Given the description of an element on the screen output the (x, y) to click on. 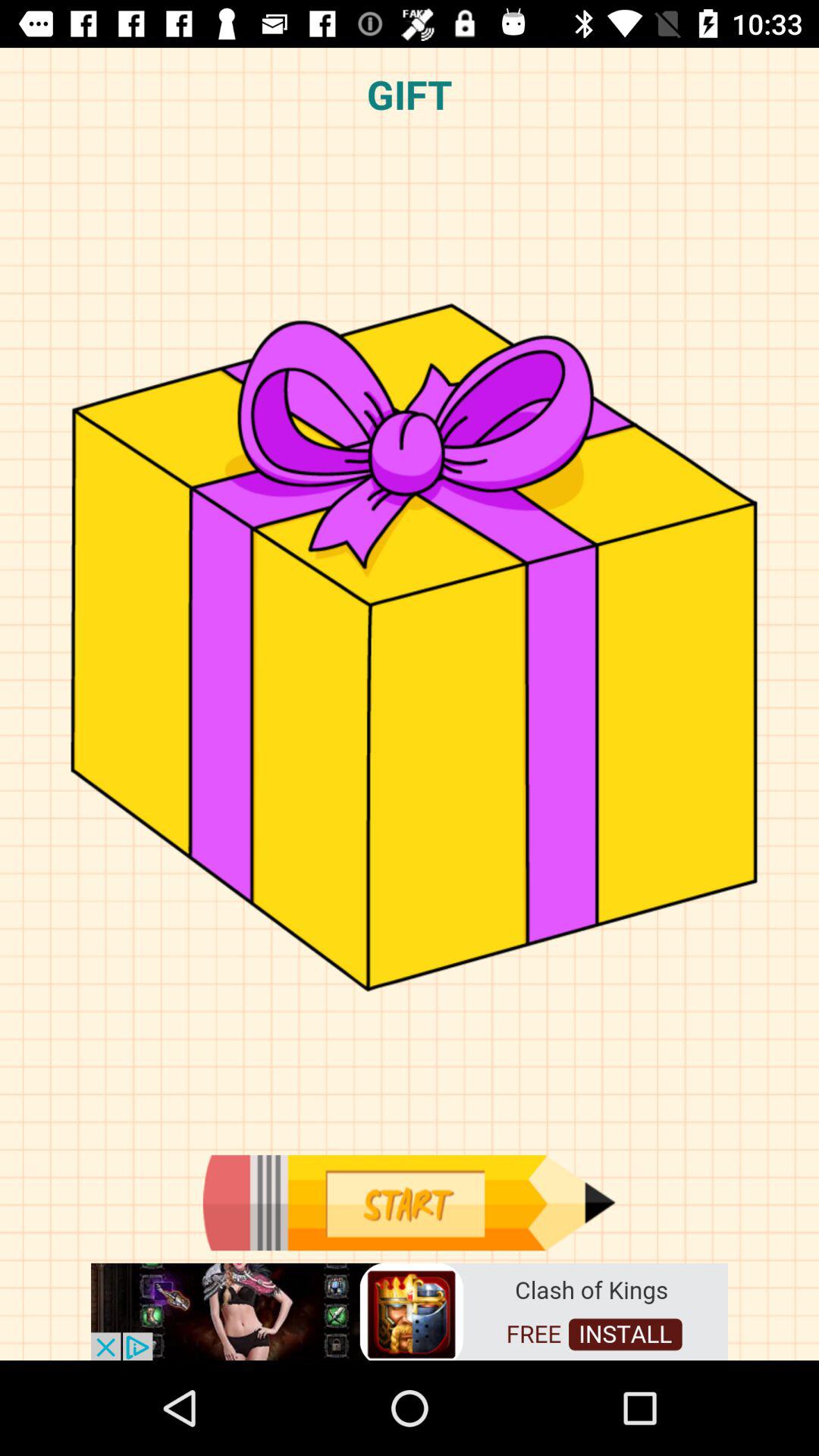
start (409, 1202)
